Given the description of an element on the screen output the (x, y) to click on. 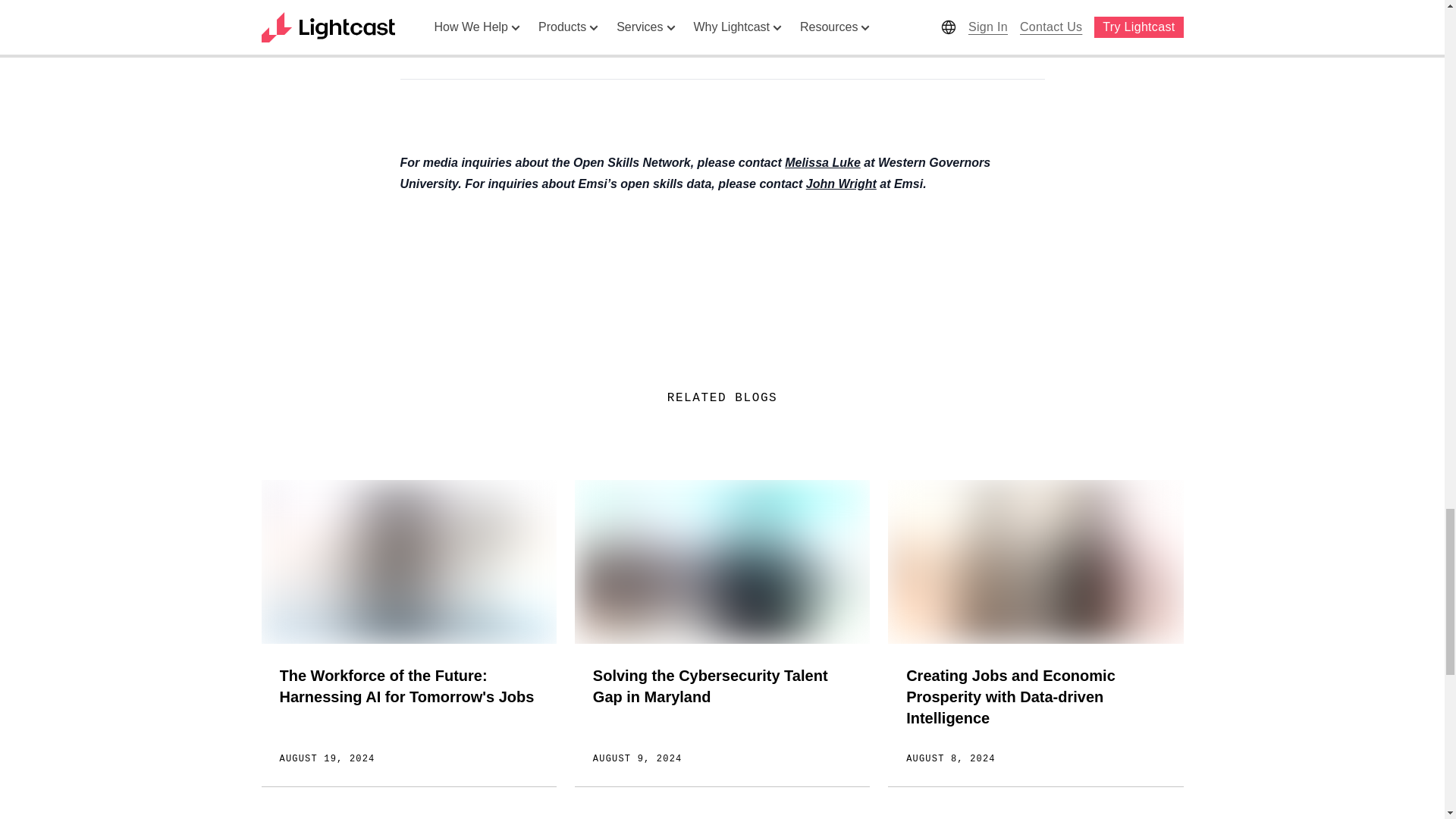
John Wright (841, 183)
Melissa Luke (822, 162)
www.openskillsnetwork.org (480, 31)
